Given the description of an element on the screen output the (x, y) to click on. 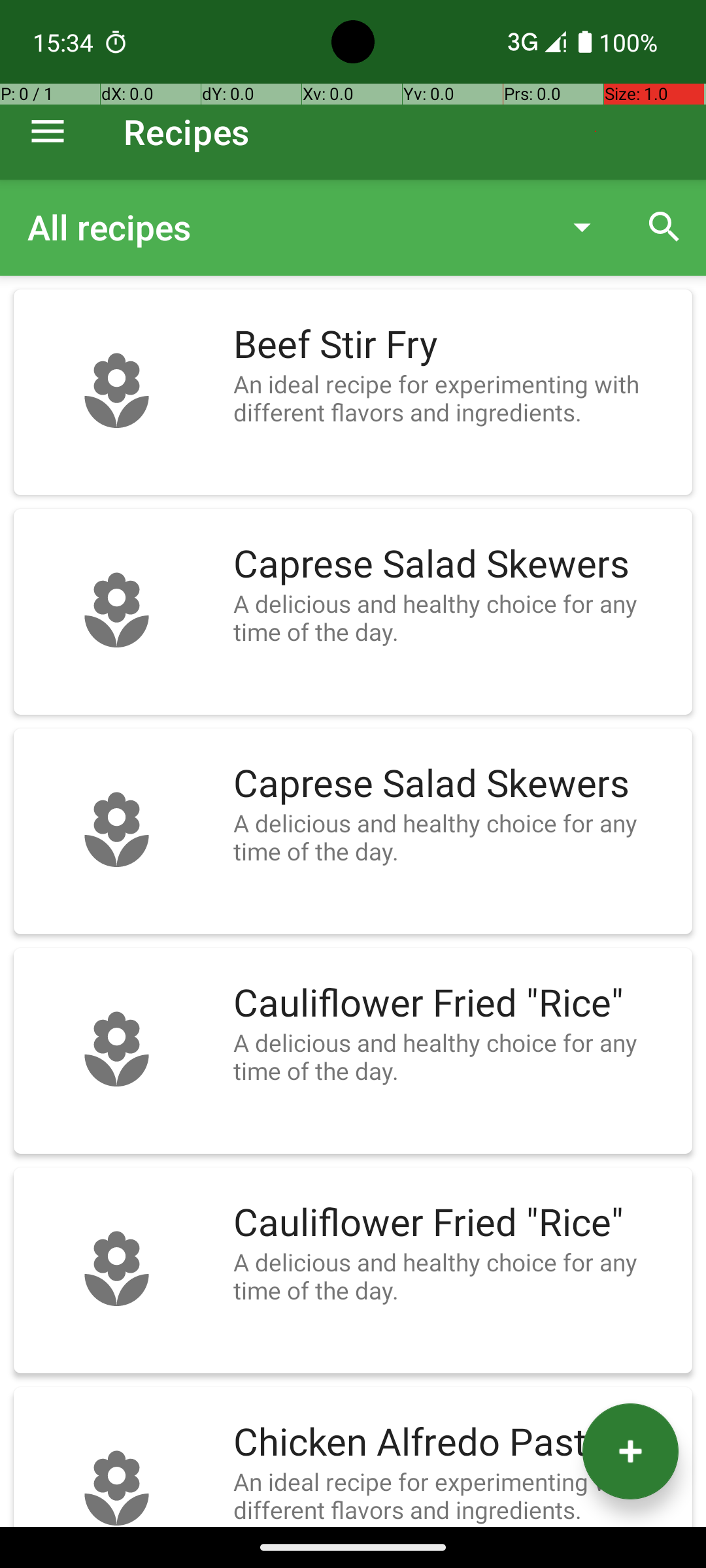
Beef Stir Fry Element type: android.widget.TextView (455, 344)
Caprese Salad Skewers Element type: android.widget.TextView (455, 564)
Cauliflower Fried "Rice" Element type: android.widget.TextView (455, 1003)
Chicken Alfredo Pasta Element type: android.widget.TextView (455, 1442)
